Given the description of an element on the screen output the (x, y) to click on. 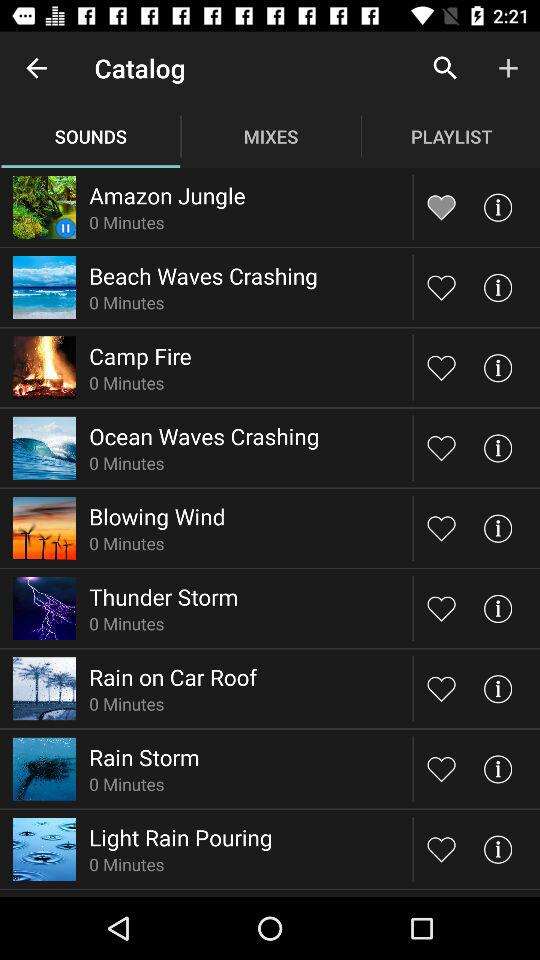
more info (498, 848)
